Given the description of an element on the screen output the (x, y) to click on. 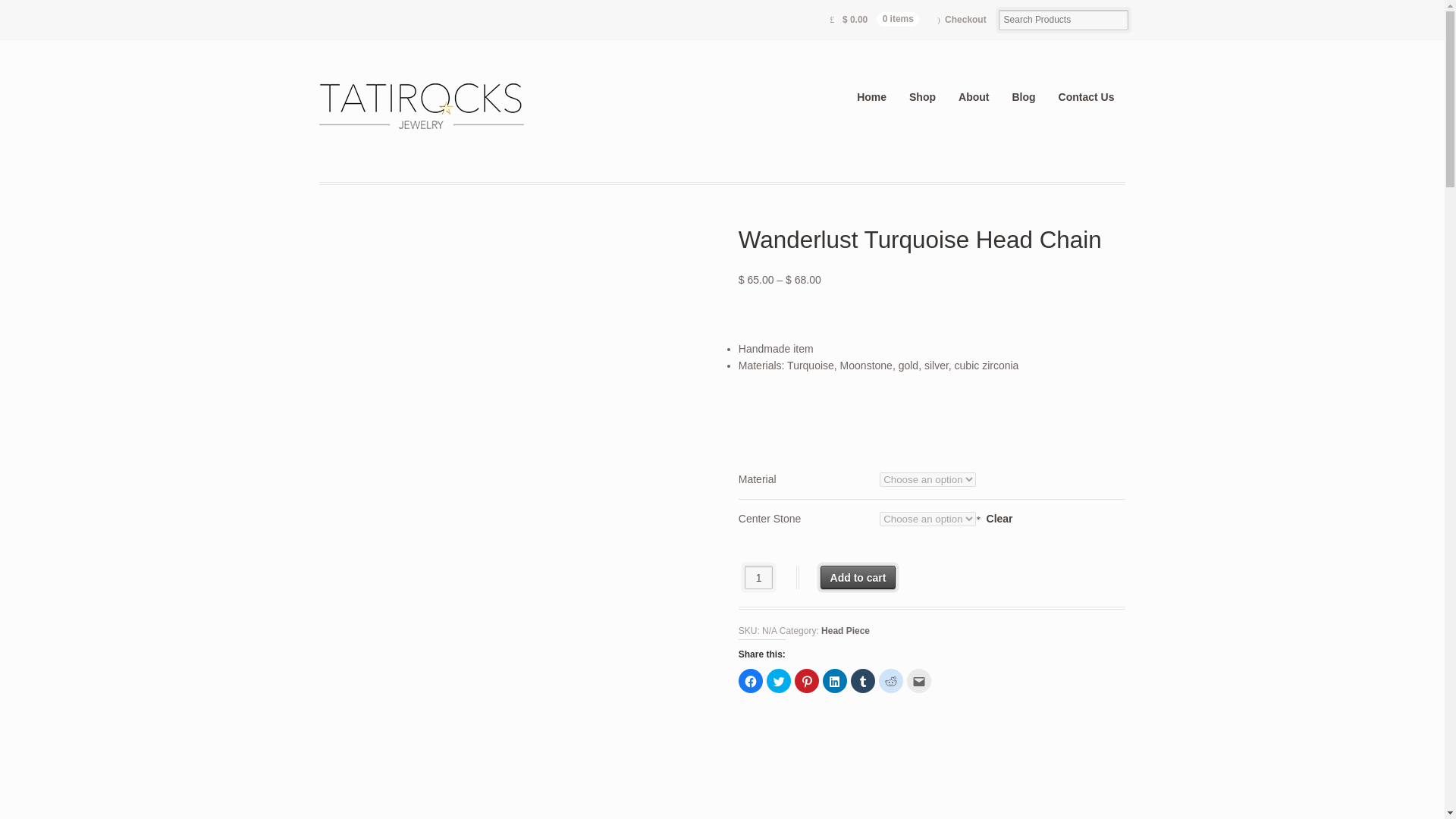
Shop (922, 97)
Click to share on Facebook (750, 680)
Click to email this to a friend (919, 680)
Blog (1023, 97)
Add to cart (858, 576)
Click to share on Pinterest (806, 680)
Head Piece (845, 630)
1 (758, 576)
Click to share on LinkedIn (834, 680)
Home (871, 97)
